Given the description of an element on the screen output the (x, y) to click on. 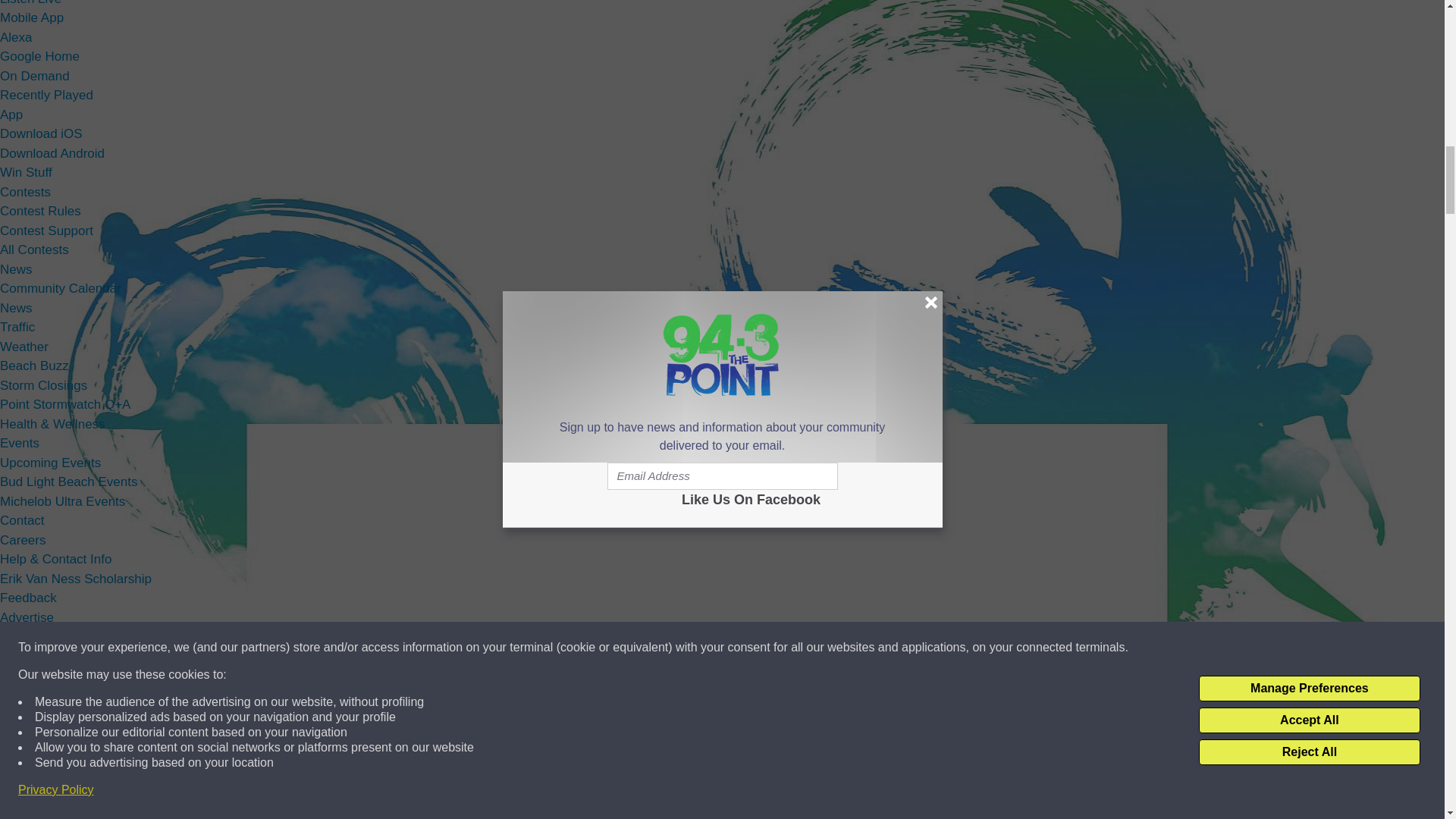
SEARCH (216, 779)
SEARCH (216, 779)
